Given the description of an element on the screen output the (x, y) to click on. 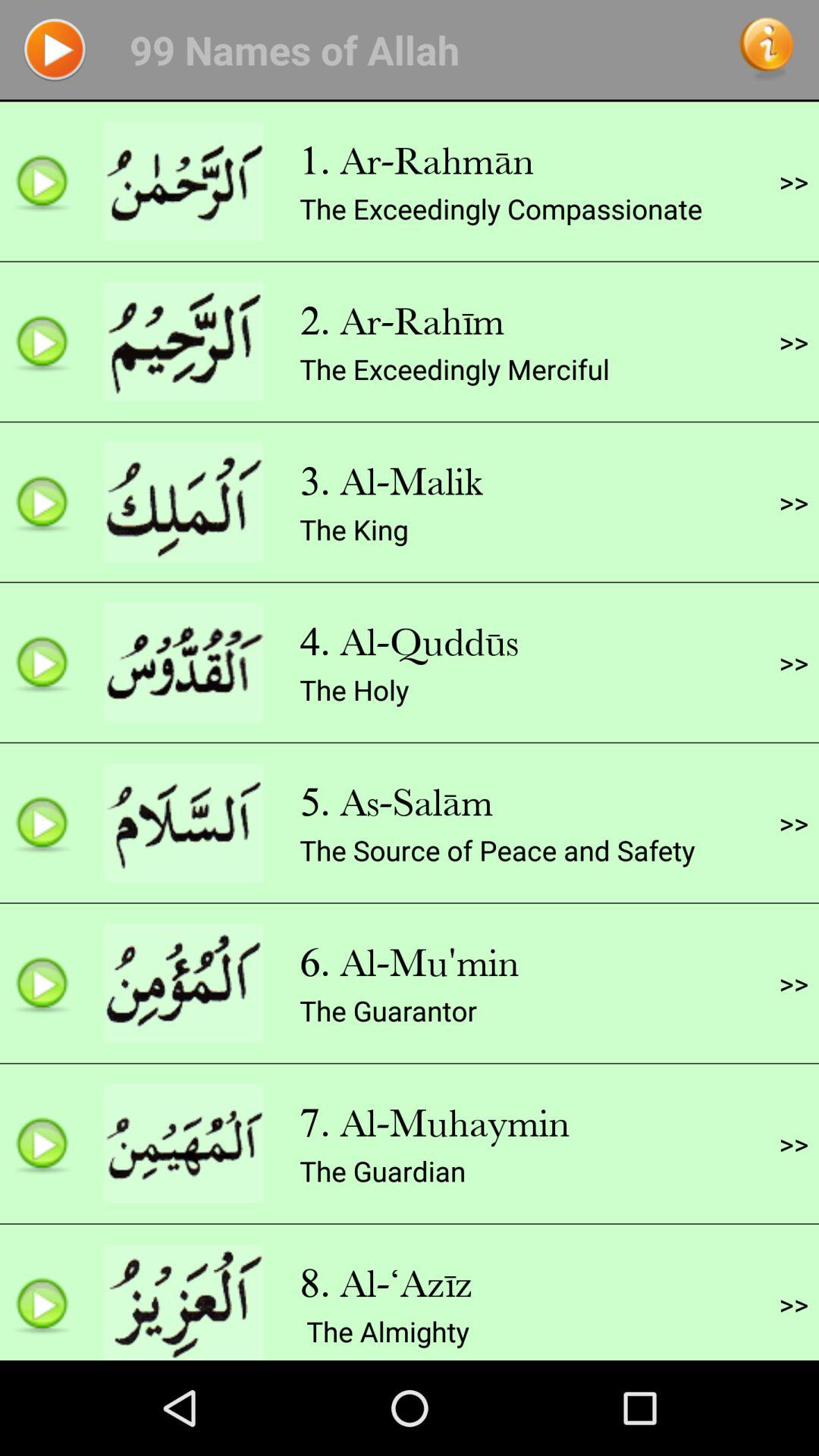
launch app next to the exceedingly compassionate item (793, 181)
